Given the description of an element on the screen output the (x, y) to click on. 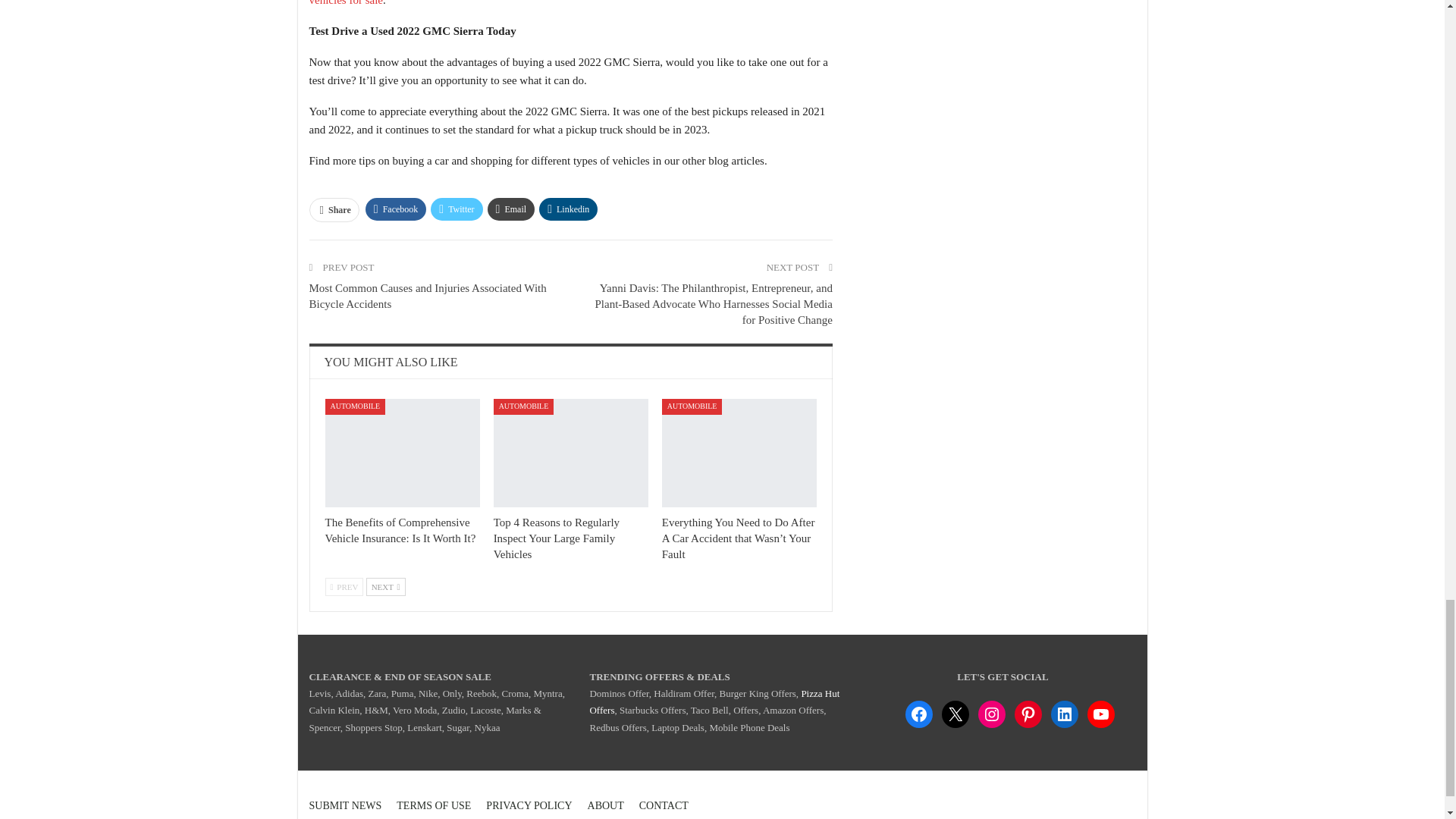
AUTOMOBILE (692, 406)
NEXT (386, 587)
Facebook (395, 209)
used vehicles for sale (558, 2)
Twitter (455, 209)
AUTOMOBILE (354, 406)
